Given the description of an element on the screen output the (x, y) to click on. 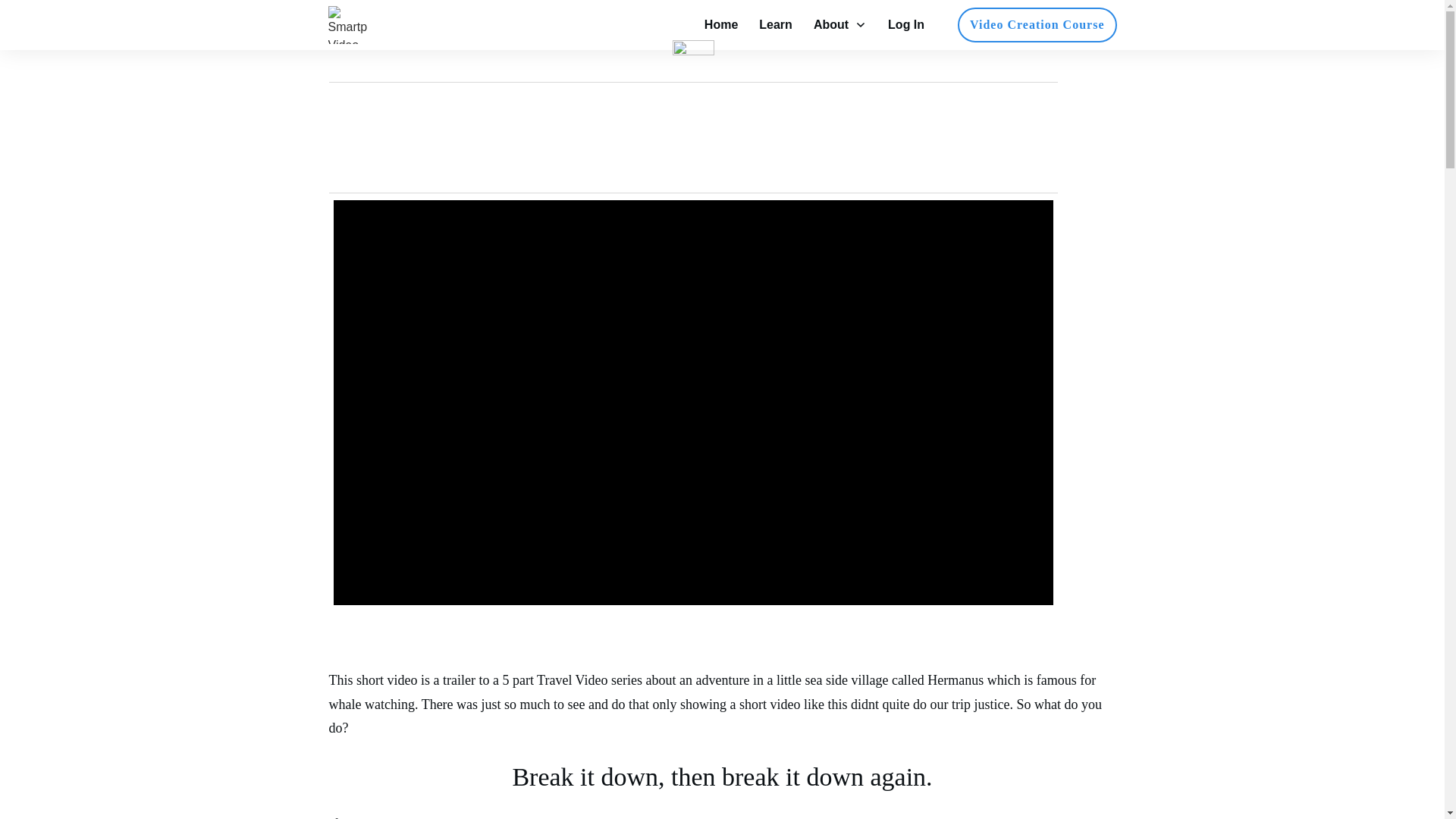
Learn (775, 24)
Home (721, 24)
Video Creation Course (1036, 24)
About (839, 24)
Log In (906, 24)
travelvids-phone-video-school (346, 24)
